Given the description of an element on the screen output the (x, y) to click on. 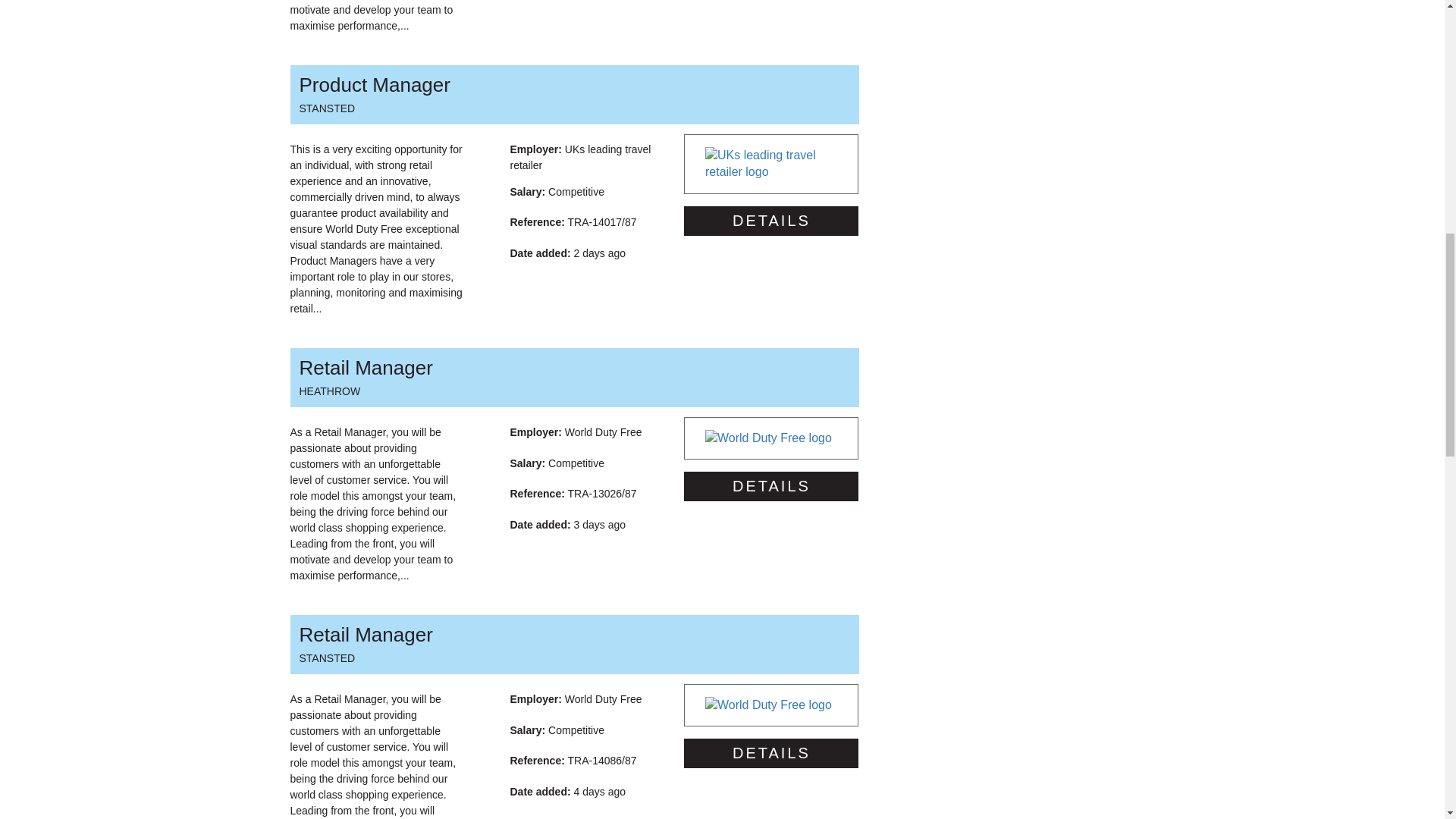
DETAILS (771, 486)
DETAILS (771, 220)
DETAILS (573, 94)
